Given the description of an element on the screen output the (x, y) to click on. 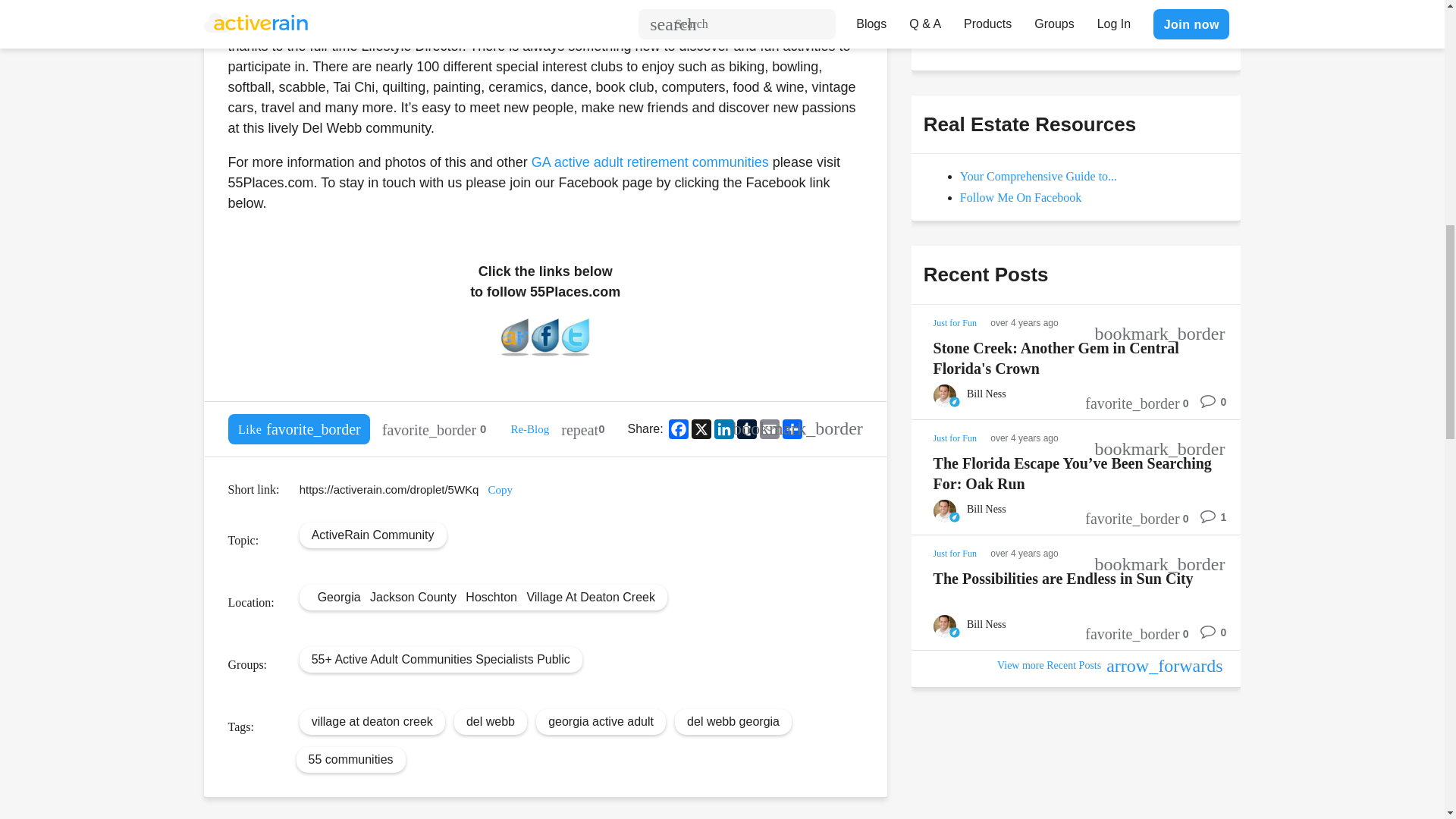
active adult community in Georgia (484, 25)
Follow Me On Facebook (1020, 196)
Re-Blog (529, 428)
Facebook (678, 428)
GA active adult retirement communities (649, 161)
ActiveRain 55Places.com (514, 352)
GA active adult retirement communities (649, 161)
Email (769, 428)
X (701, 428)
Share (791, 428)
Facebook 55Places.com (544, 352)
Your Comprehensive Guide to Active Adult Communities (1037, 175)
Twitter 55Places.com (575, 352)
This entry hasn't been re-blogged (582, 429)
Send Message (978, 30)
